Given the description of an element on the screen output the (x, y) to click on. 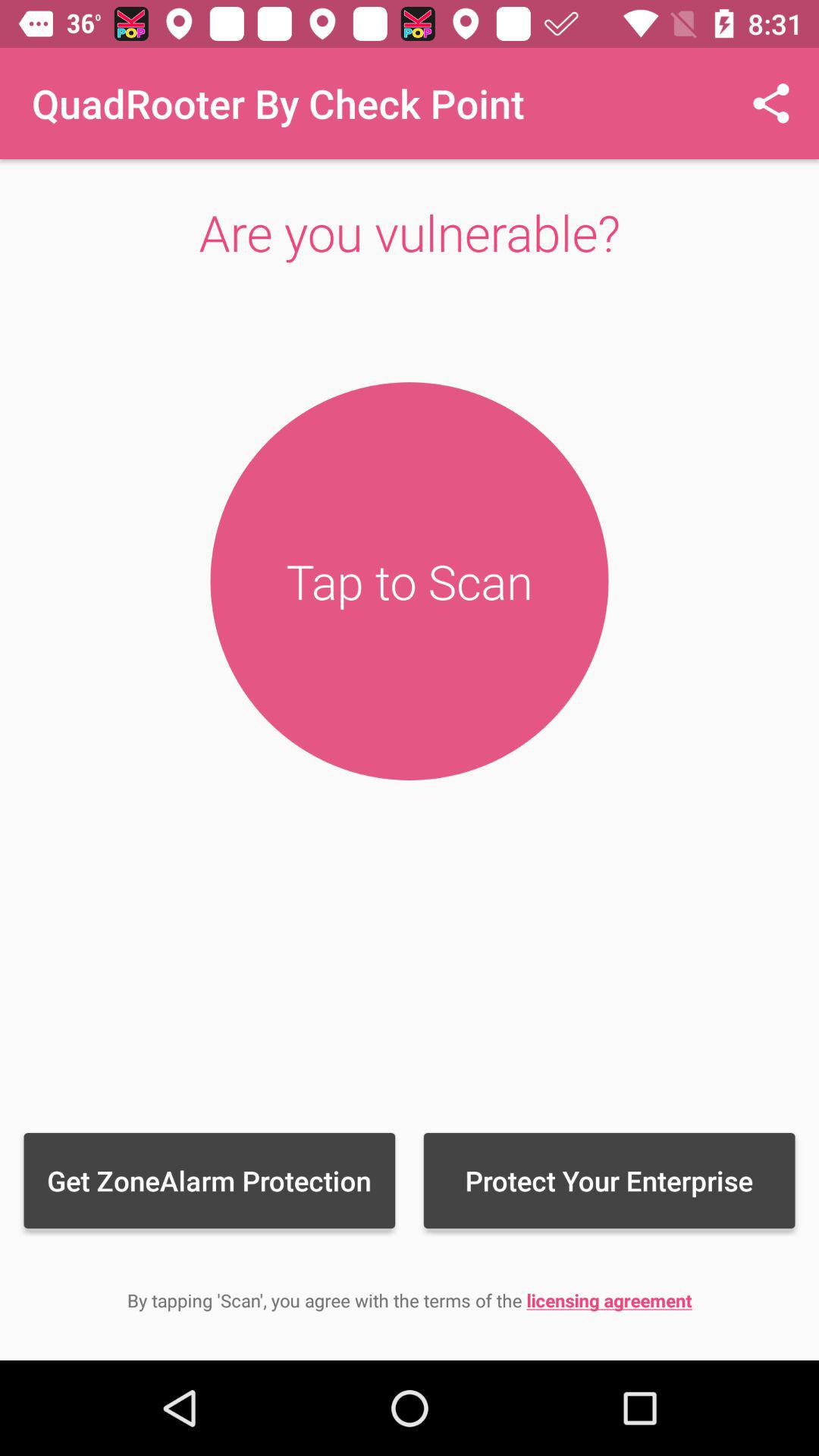
scan button (409, 581)
